Given the description of an element on the screen output the (x, y) to click on. 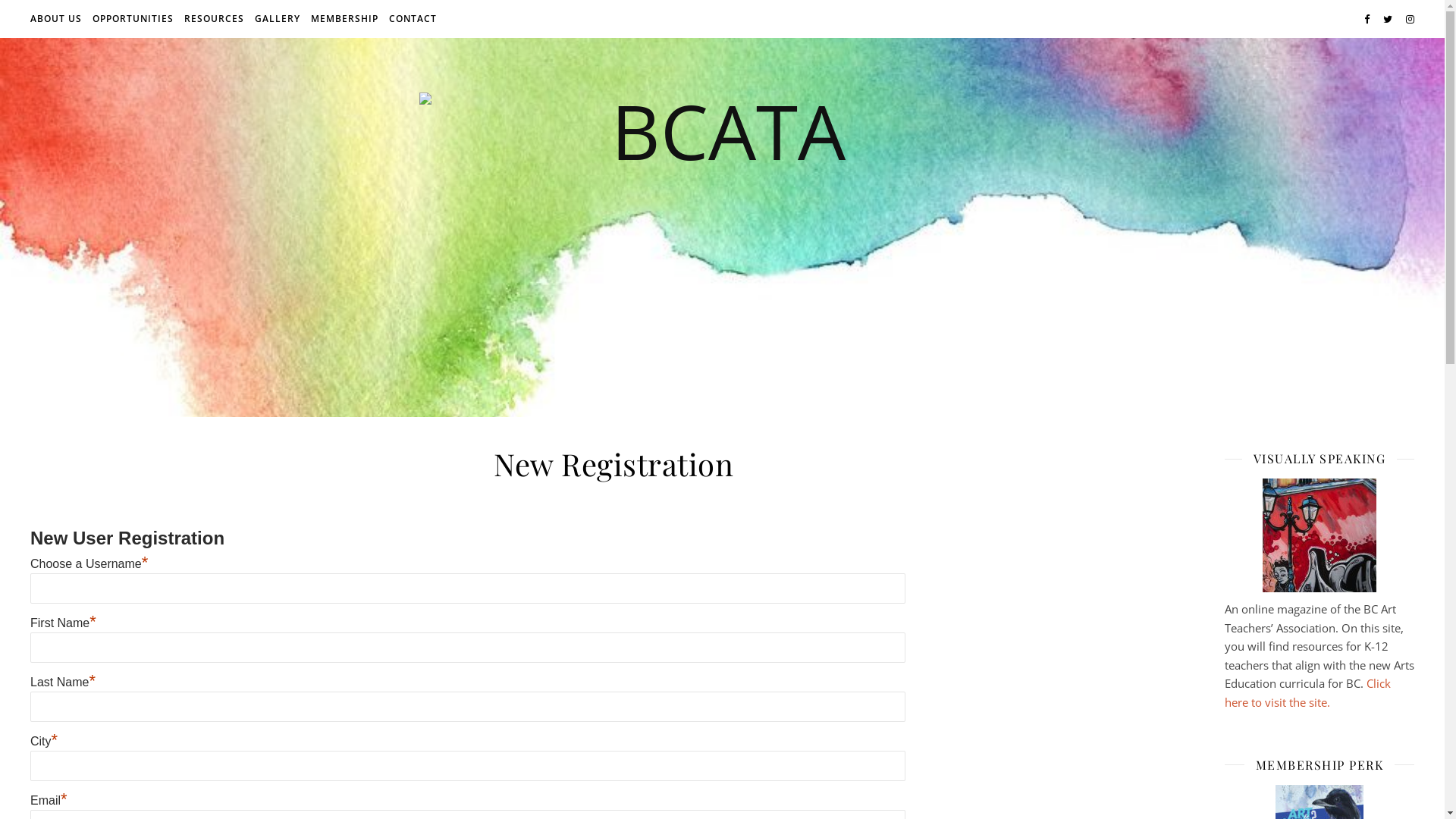
CONTACT Element type: text (410, 18)
MEMBERSHIP Element type: text (344, 18)
ABOUT US Element type: text (57, 18)
GALLERY Element type: text (277, 18)
BCATA Element type: hover (721, 227)
Click here to visit the site. Element type: text (1307, 692)
RESOURCES Element type: text (213, 18)
OPPORTUNITIES Element type: text (132, 18)
